Given the description of an element on the screen output the (x, y) to click on. 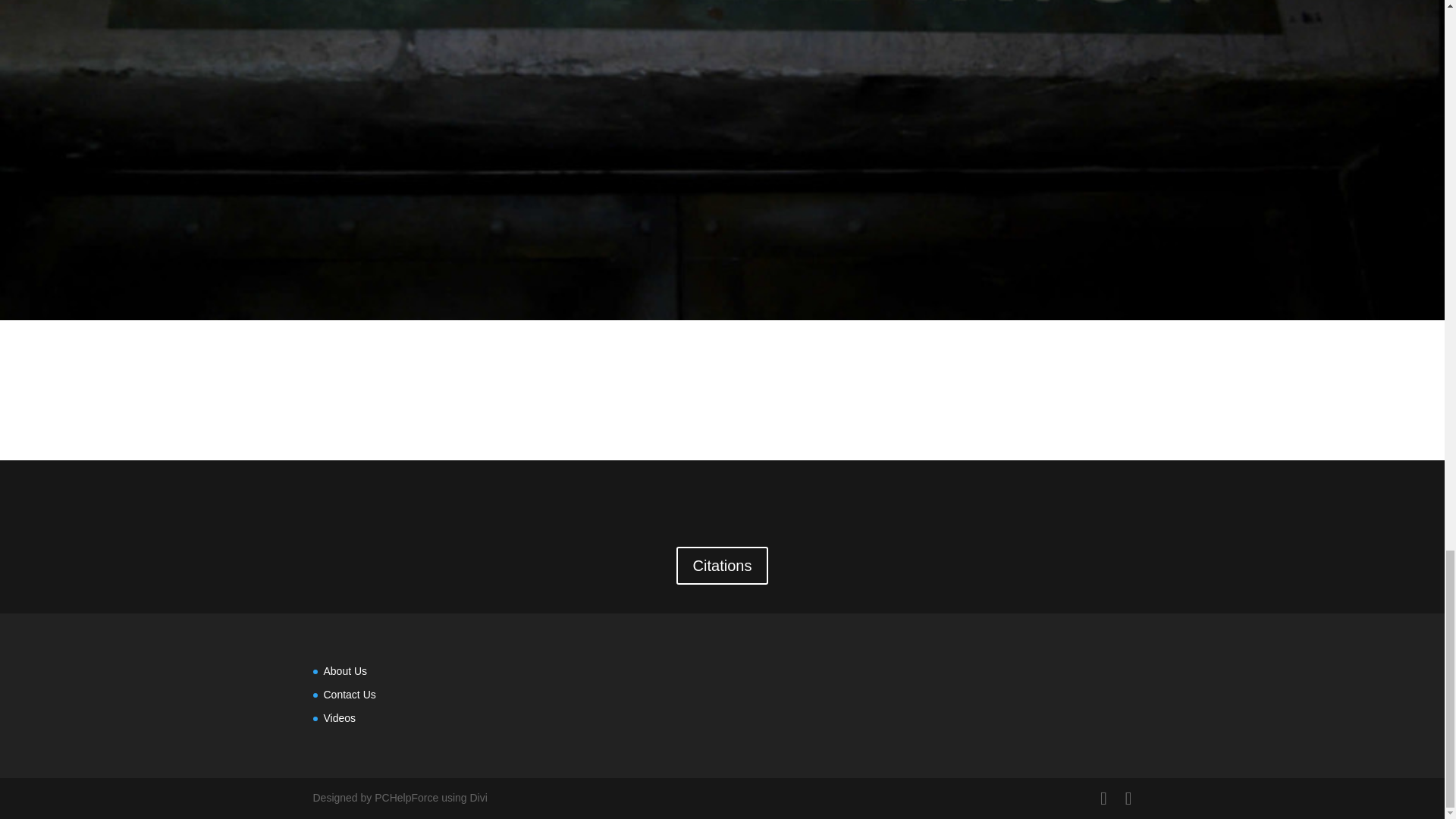
Citations (722, 565)
Videos (339, 717)
About Us (344, 671)
Contact Us (349, 694)
